Given the description of an element on the screen output the (x, y) to click on. 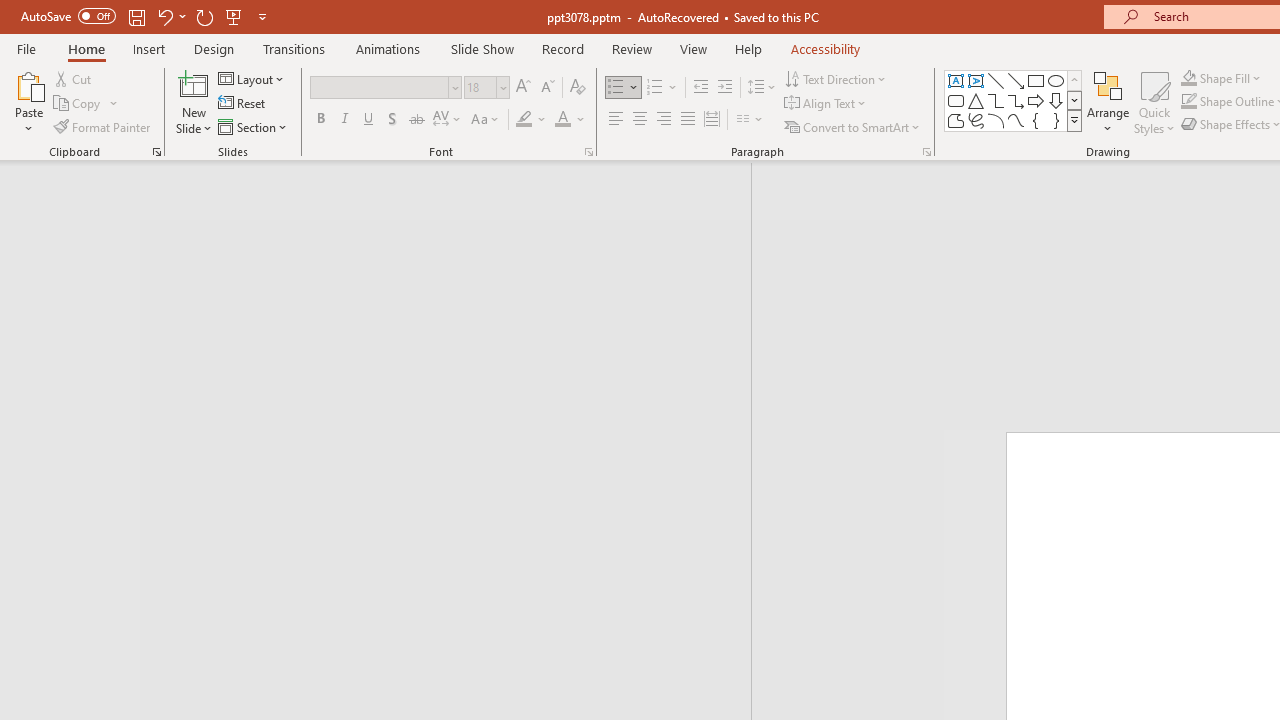
Shape Outline Green, Accent 1 (1188, 101)
